Given the description of an element on the screen output the (x, y) to click on. 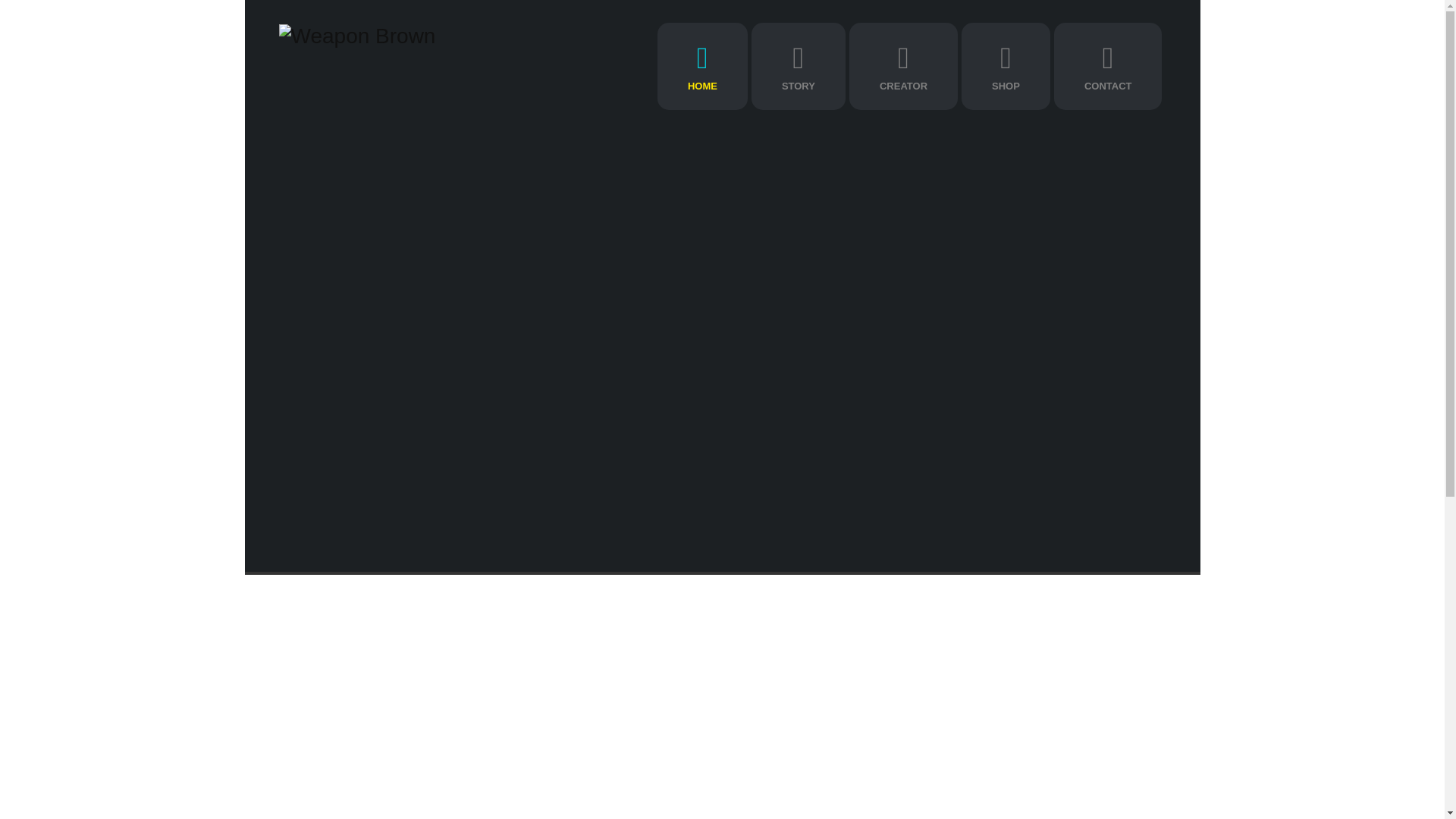
CONTACT (1107, 65)
STORY (798, 65)
SHOP (1004, 65)
CREATOR (903, 65)
HOME (703, 65)
